Given the description of an element on the screen output the (x, y) to click on. 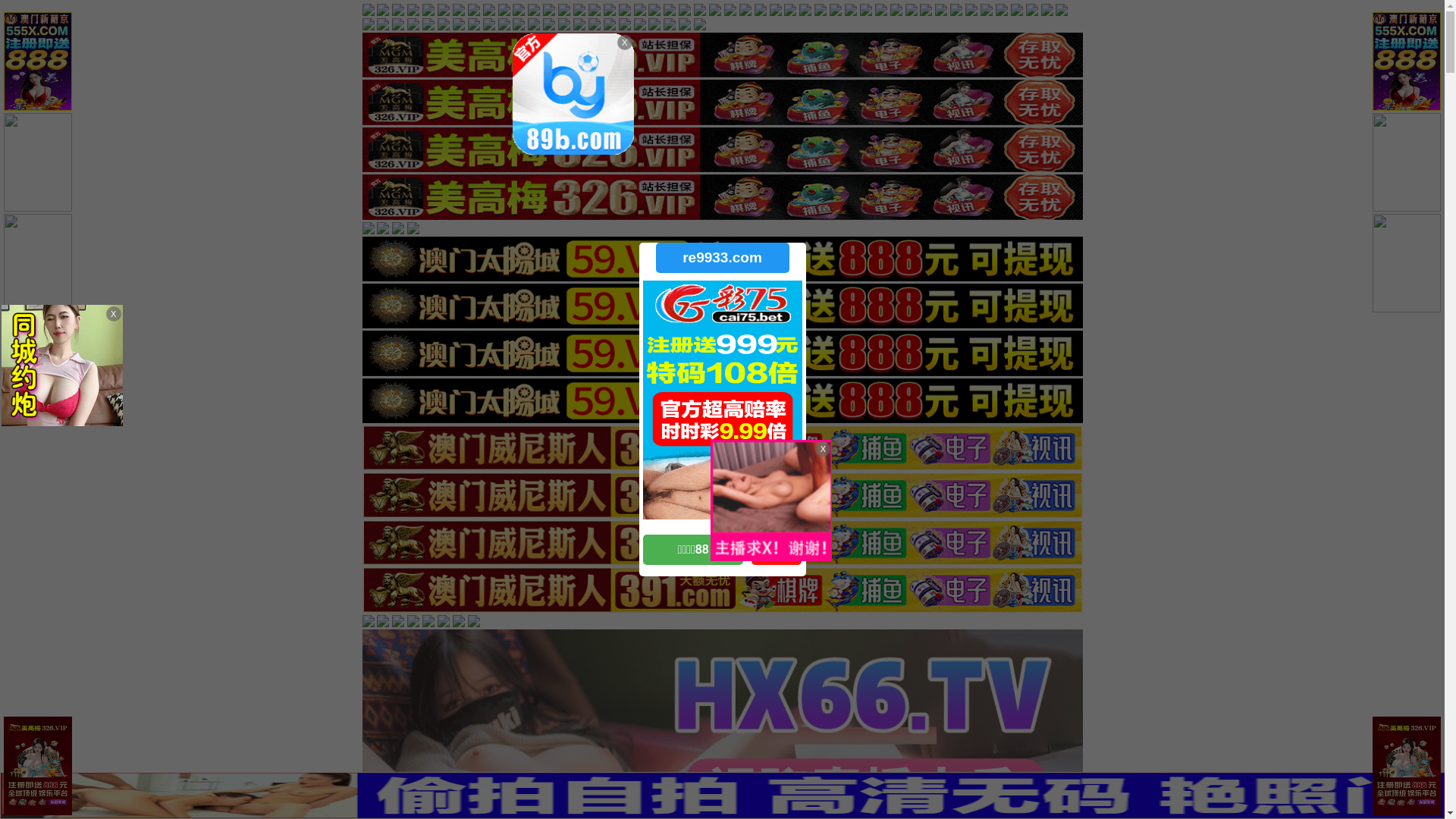
re9933.com Element type: text (721, 257)
X Element type: text (1430, 789)
